Given the description of an element on the screen output the (x, y) to click on. 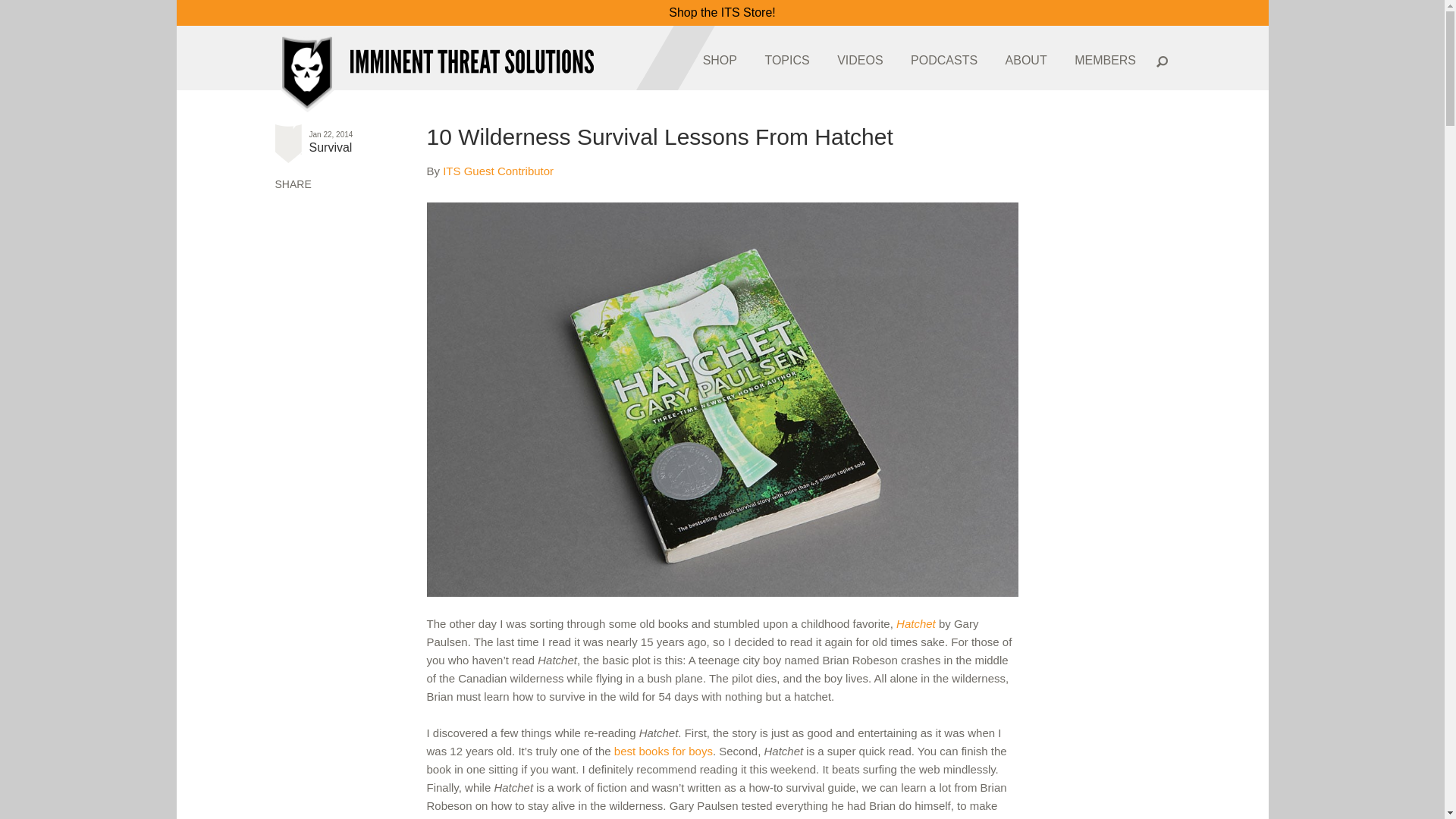
TOPICS (786, 60)
Shop the ITS Store! (722, 11)
SHOP (719, 60)
